Given the description of an element on the screen output the (x, y) to click on. 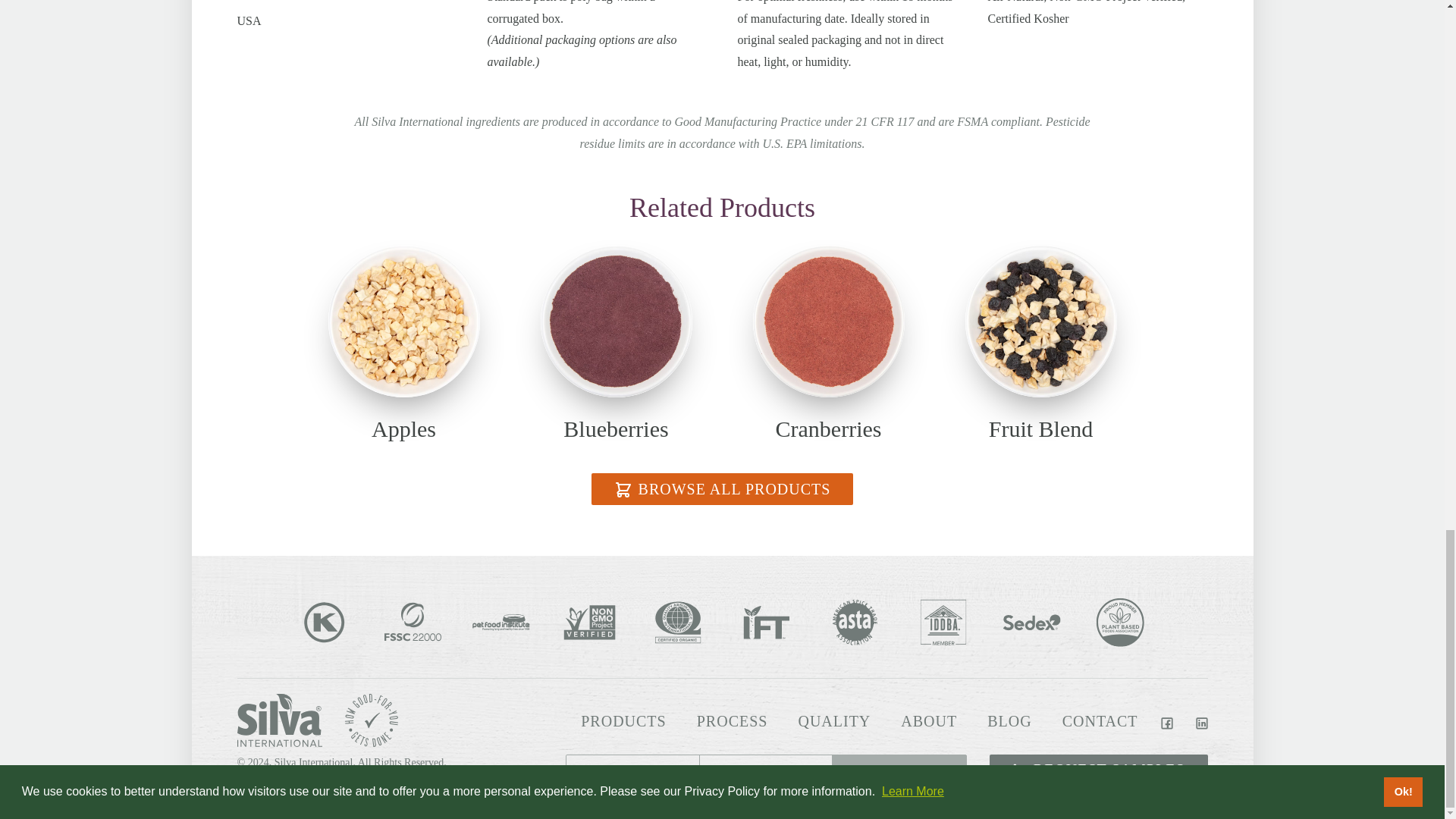
Subscribe (898, 769)
